Given the description of an element on the screen output the (x, y) to click on. 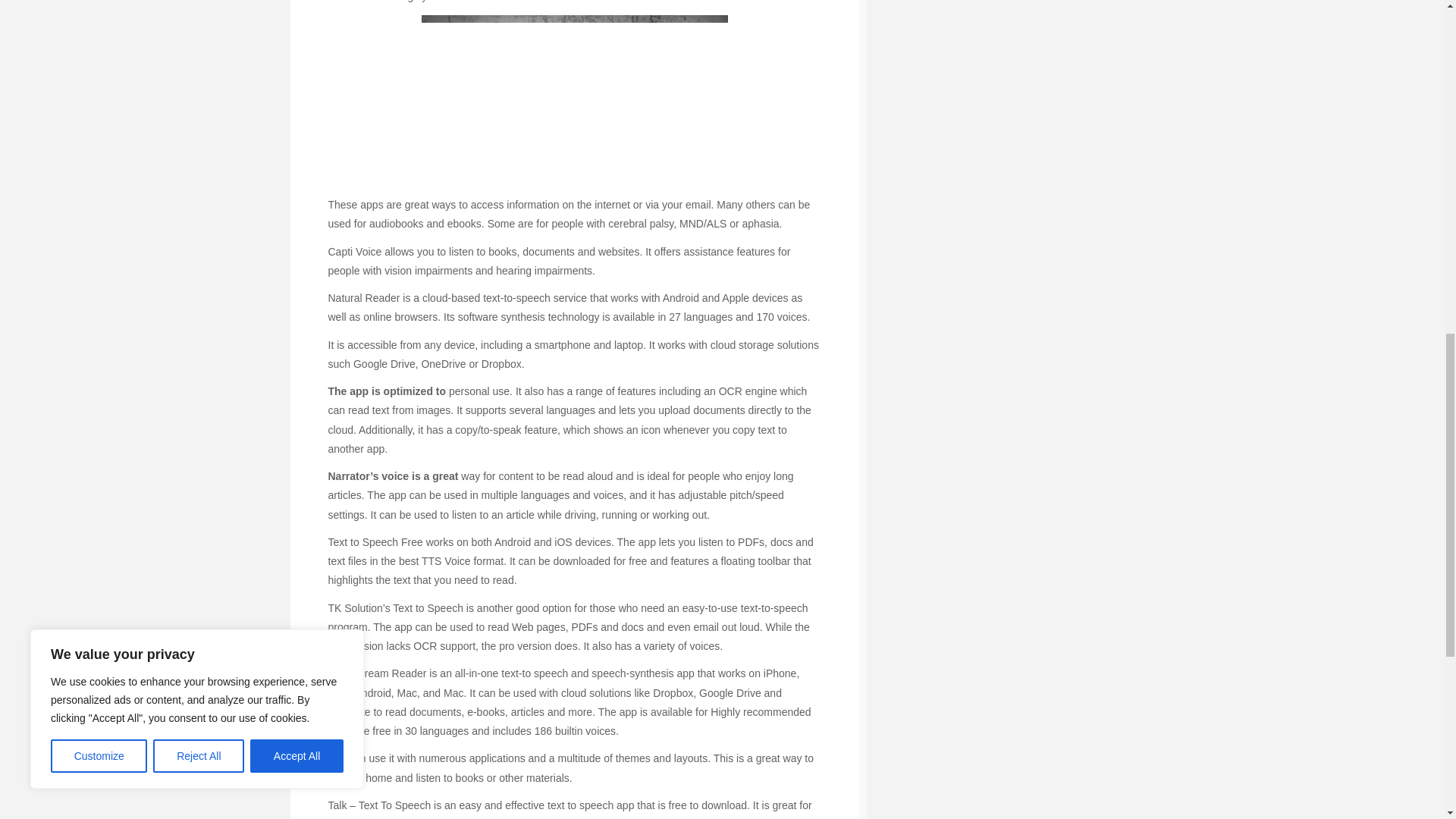
Highly recommended Web-site (469, 1)
TTS Voice (446, 561)
